Given the description of an element on the screen output the (x, y) to click on. 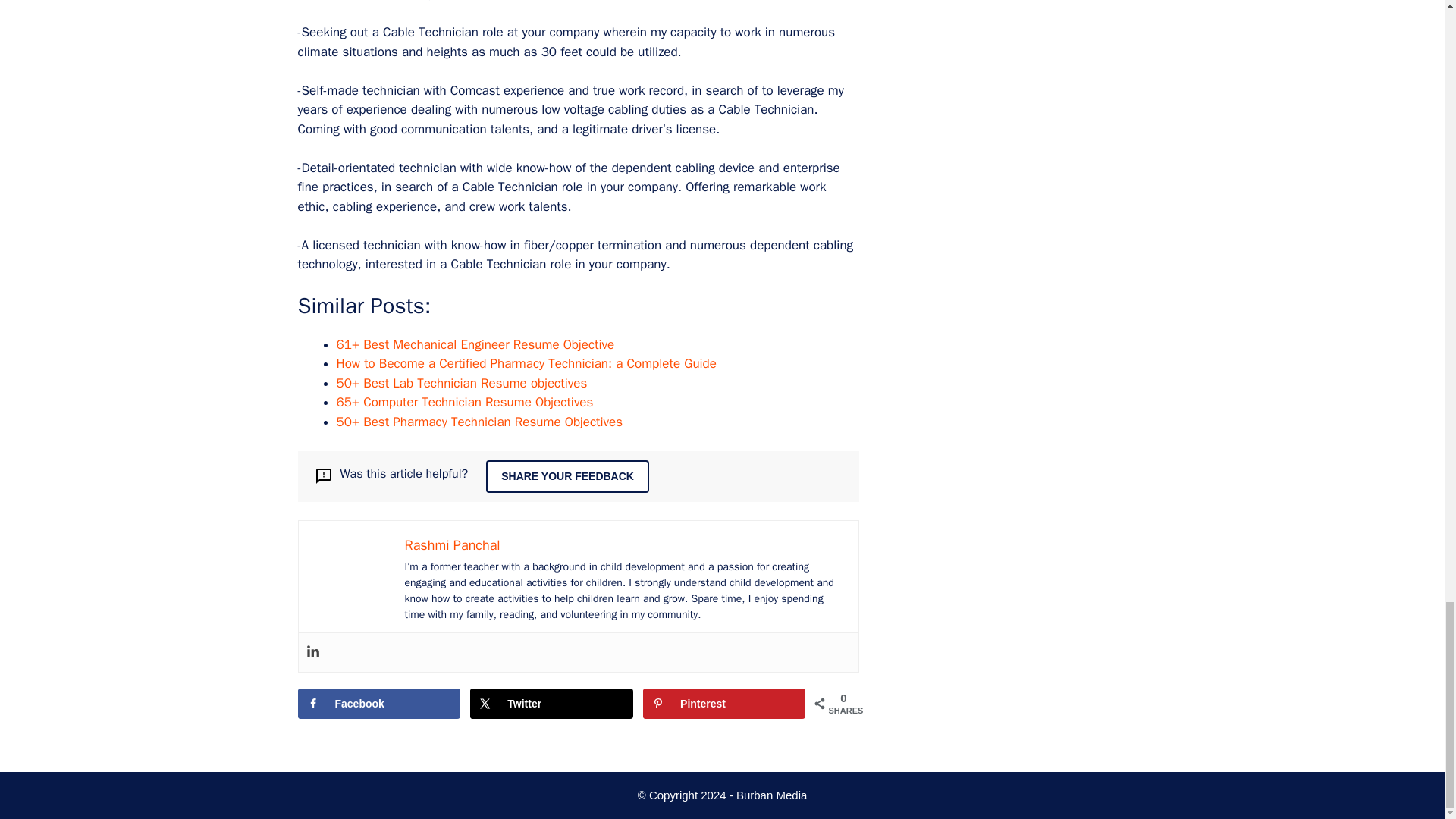
Twitter (550, 703)
Share on Facebook (378, 703)
Facebook (378, 703)
SHARE YOUR FEEDBACK (567, 476)
Rashmi Panchal (452, 545)
Share on X (550, 703)
Pinterest (724, 703)
